Given the description of an element on the screen output the (x, y) to click on. 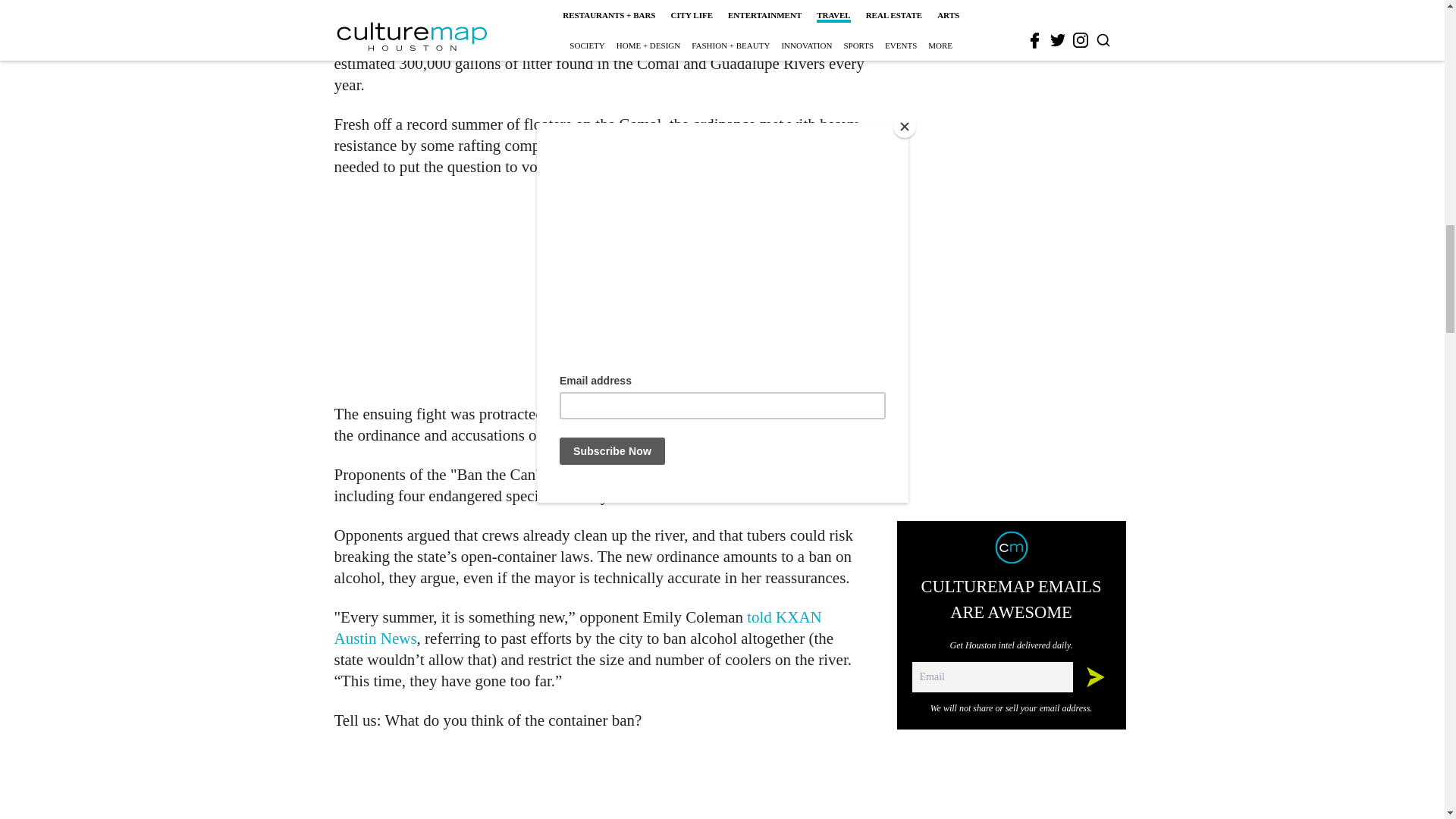
3rd party ad content (600, 289)
